Given the description of an element on the screen output the (x, y) to click on. 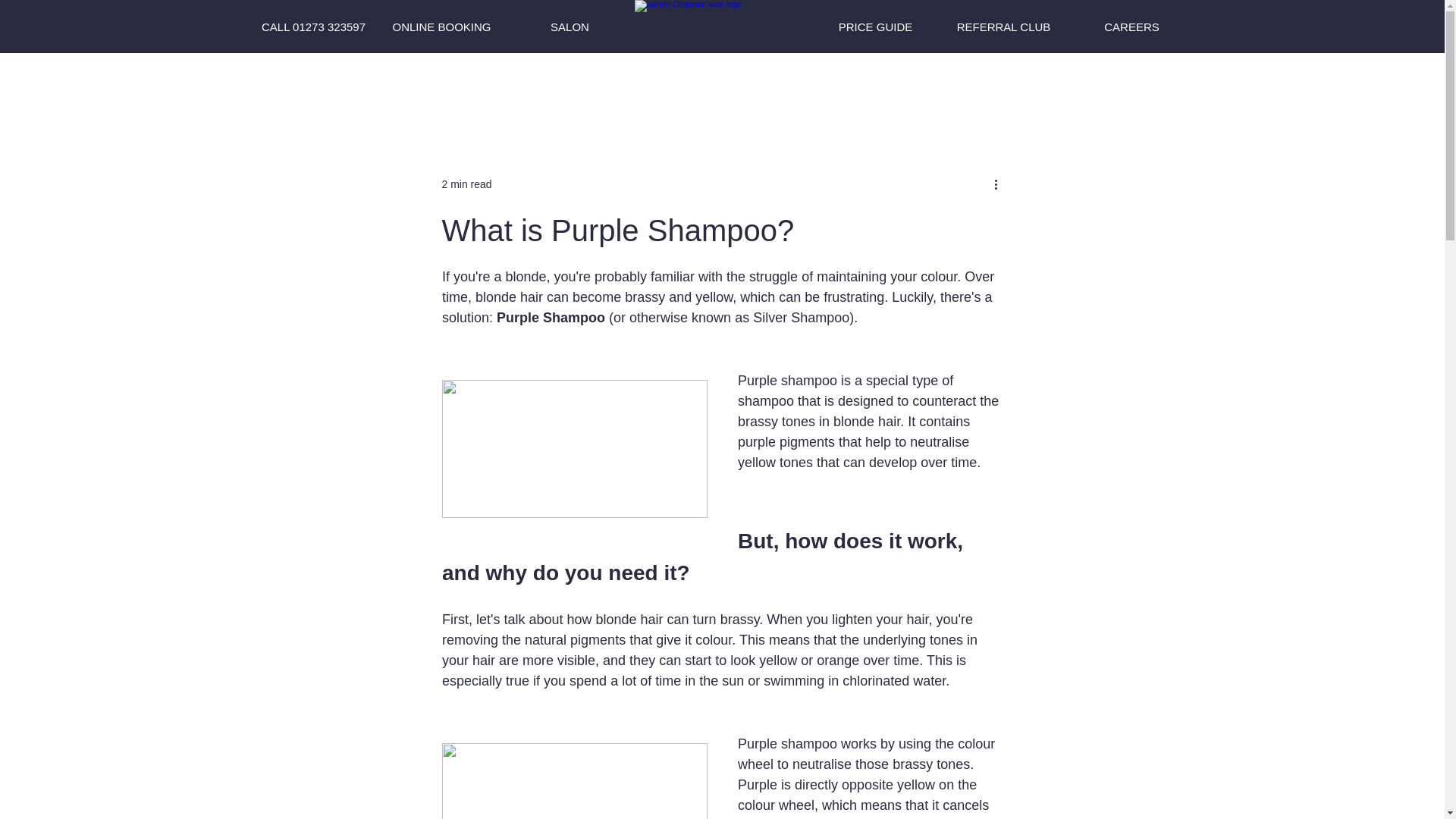
ONLINE BOOKING (442, 26)
2 min read (466, 183)
REFERRAL CLUB (1003, 26)
PRICE GUIDE (876, 26)
SALON (569, 26)
CAREERS (1132, 26)
